Given the description of an element on the screen output the (x, y) to click on. 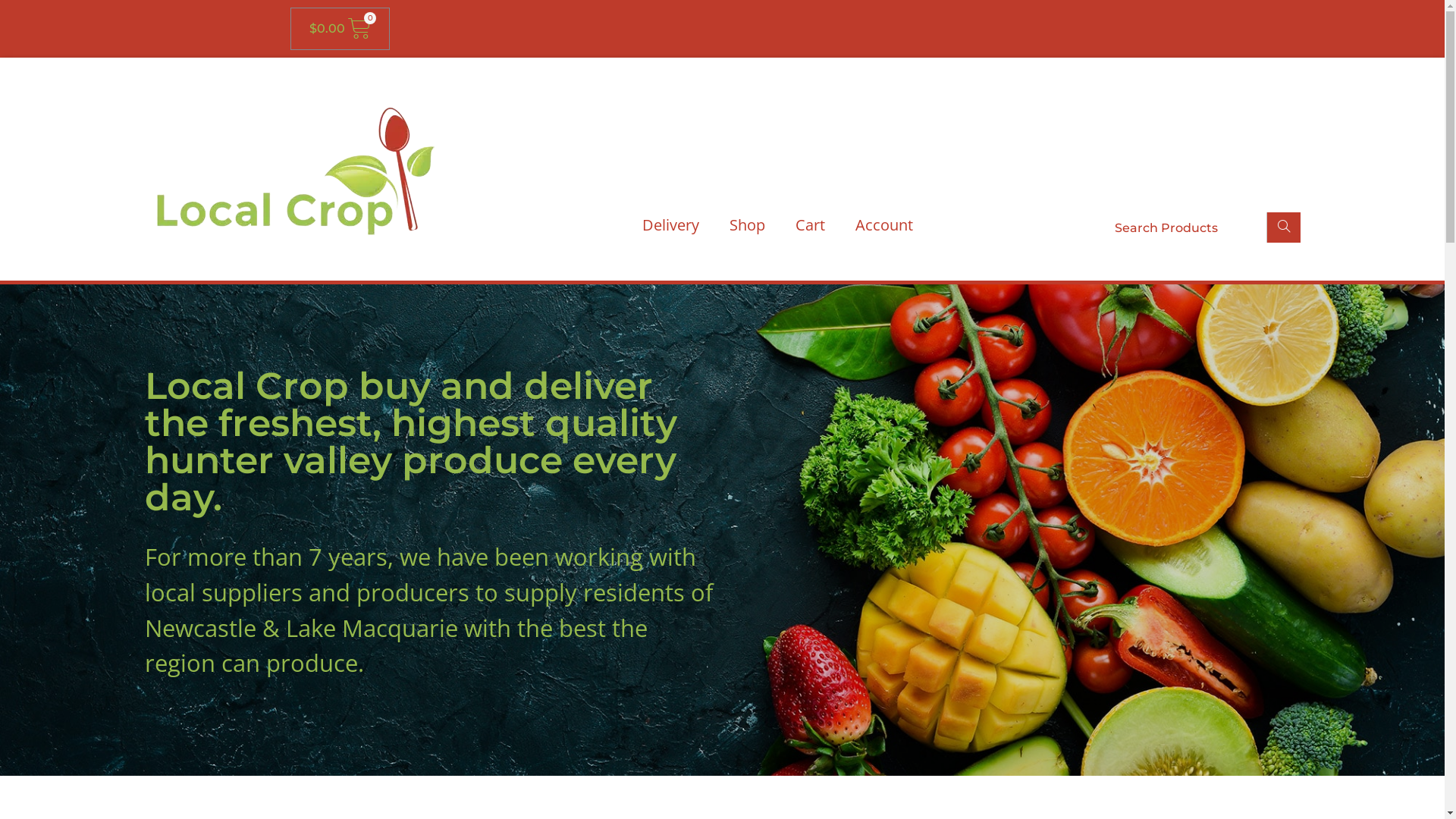
$0.00
0 Element type: text (339, 28)
Cart Element type: text (809, 224)
Search Element type: text (1283, 227)
Account Element type: text (884, 224)
Shop Element type: text (747, 224)
Delivery Element type: text (669, 224)
